Given the description of an element on the screen output the (x, y) to click on. 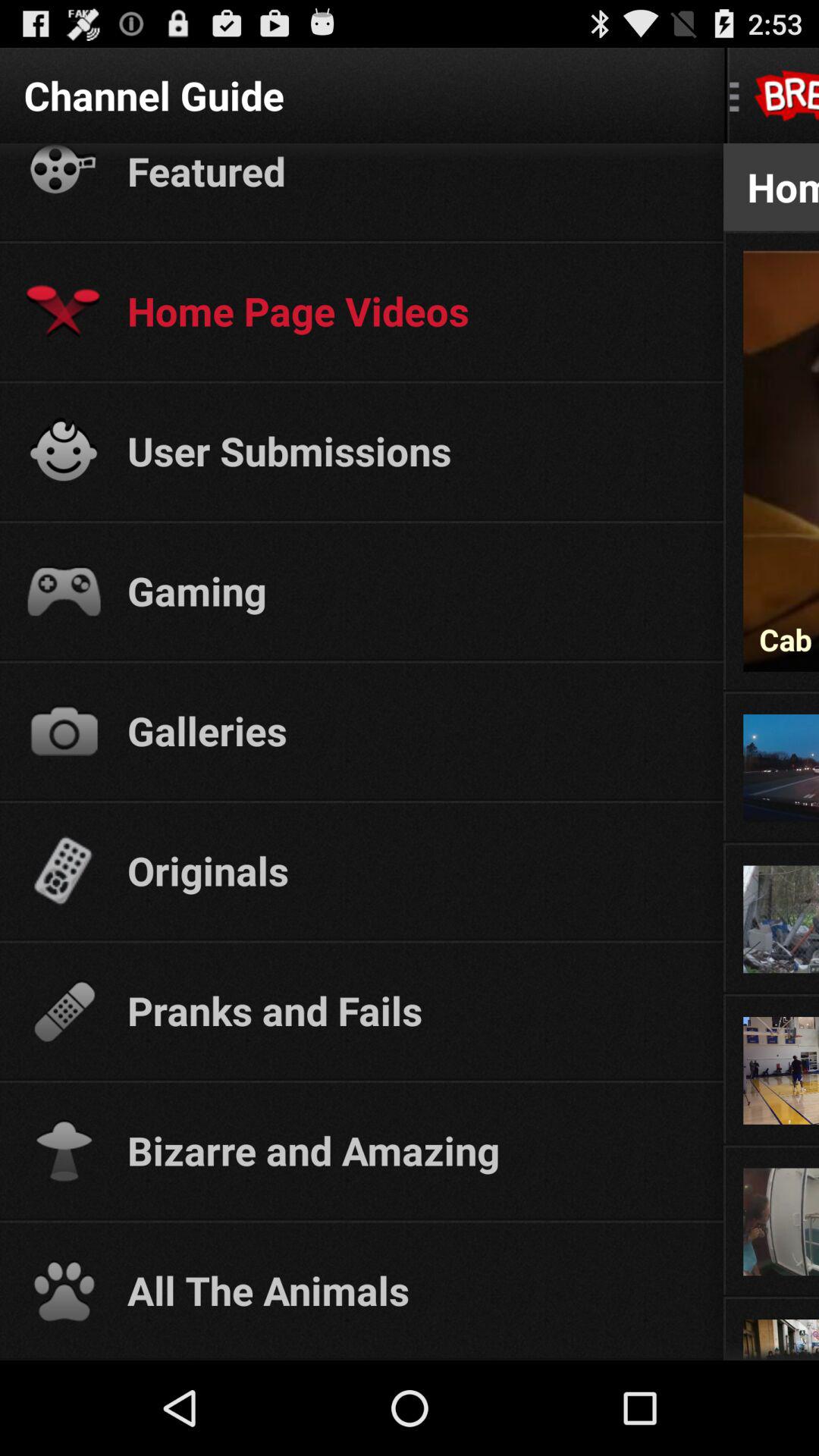
turn off the item to the right of all the animals icon (771, 1295)
